Given the description of an element on the screen output the (x, y) to click on. 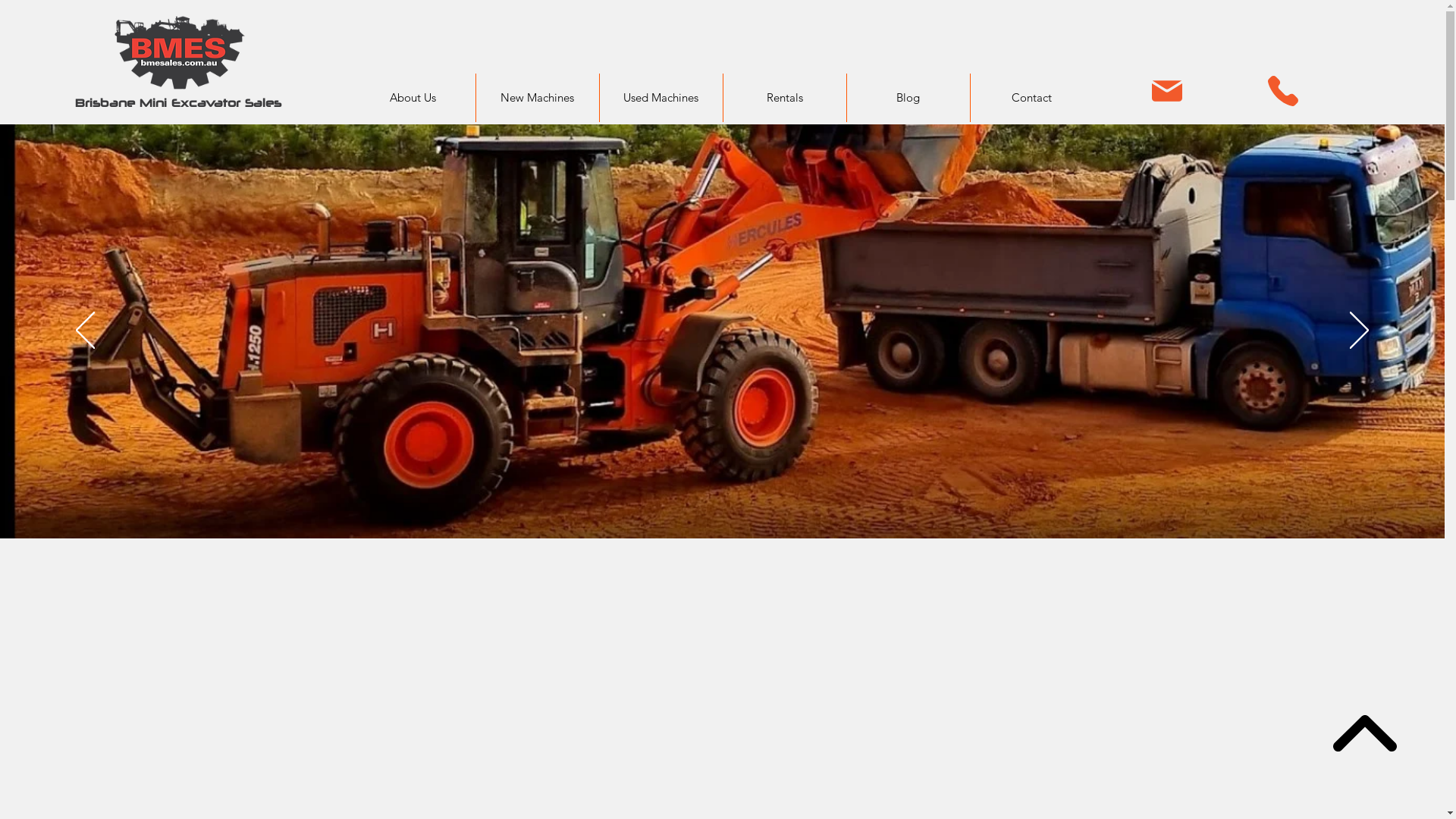
Blog Element type: text (907, 97)
About Us Element type: text (412, 97)
Brisbane Mini Excavator Sales Element type: text (178, 102)
Used Machines Element type: text (660, 97)
Contact Element type: text (1030, 97)
New Machines Element type: text (536, 97)
Rentals Element type: text (783, 97)
